Given the description of an element on the screen output the (x, y) to click on. 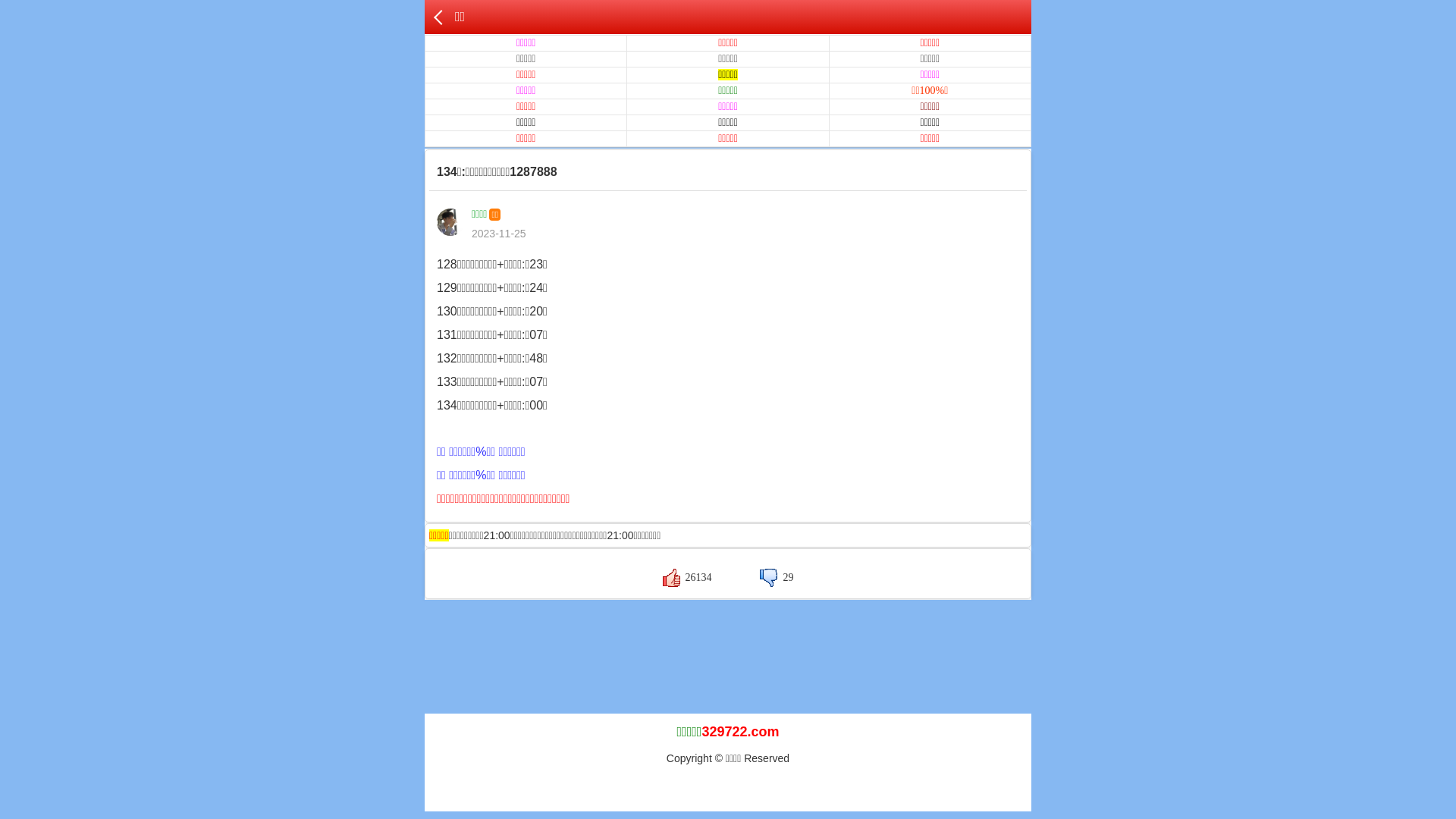
29 Element type: text (776, 576)
26134 Element type: text (687, 576)
